Given the description of an element on the screen output the (x, y) to click on. 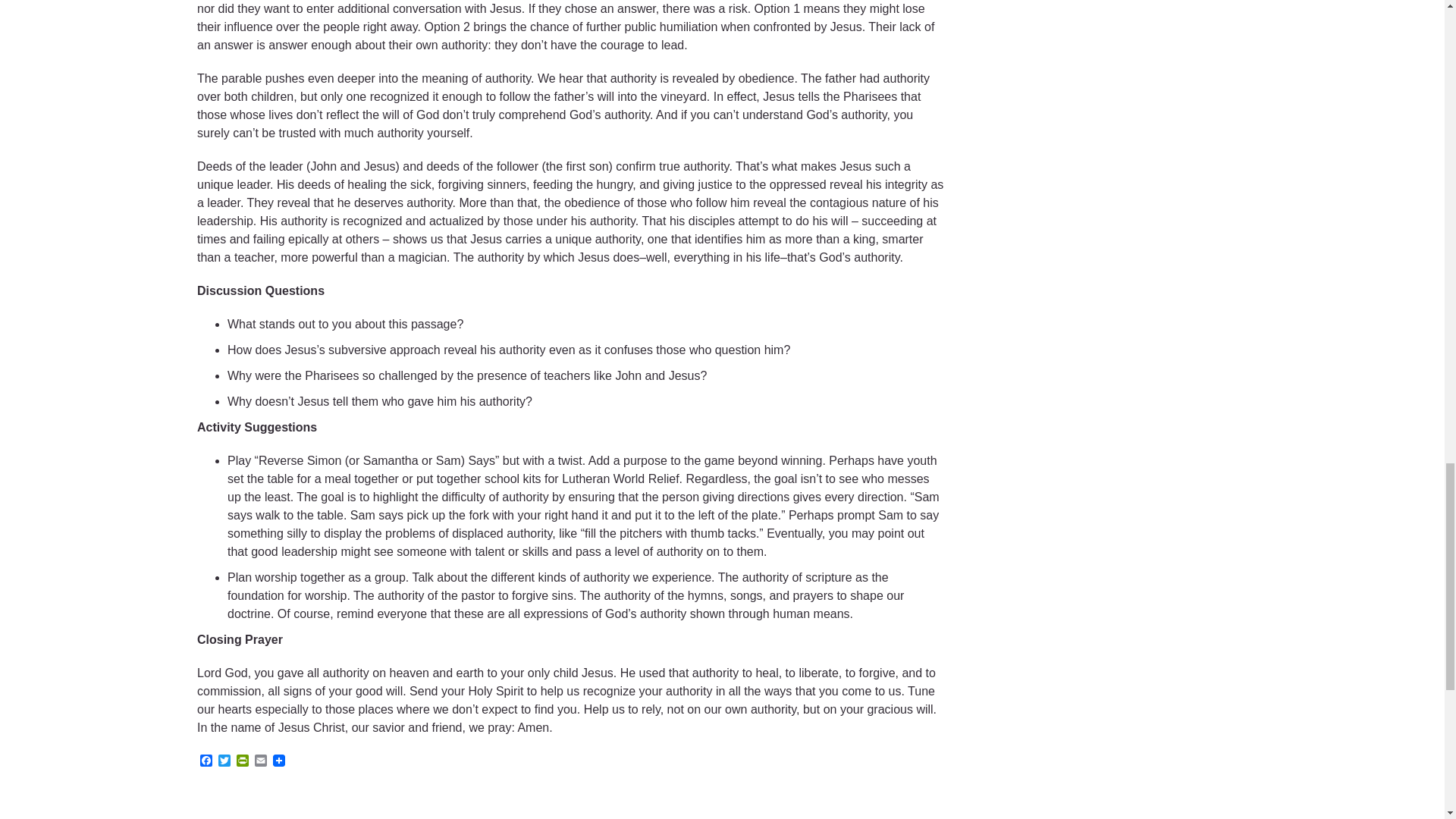
Facebook (205, 761)
Facebook (205, 761)
Email (260, 761)
PrintFriendly (241, 761)
PrintFriendly (241, 761)
Twitter (223, 761)
Email (260, 761)
Twitter (223, 761)
